Given the description of an element on the screen output the (x, y) to click on. 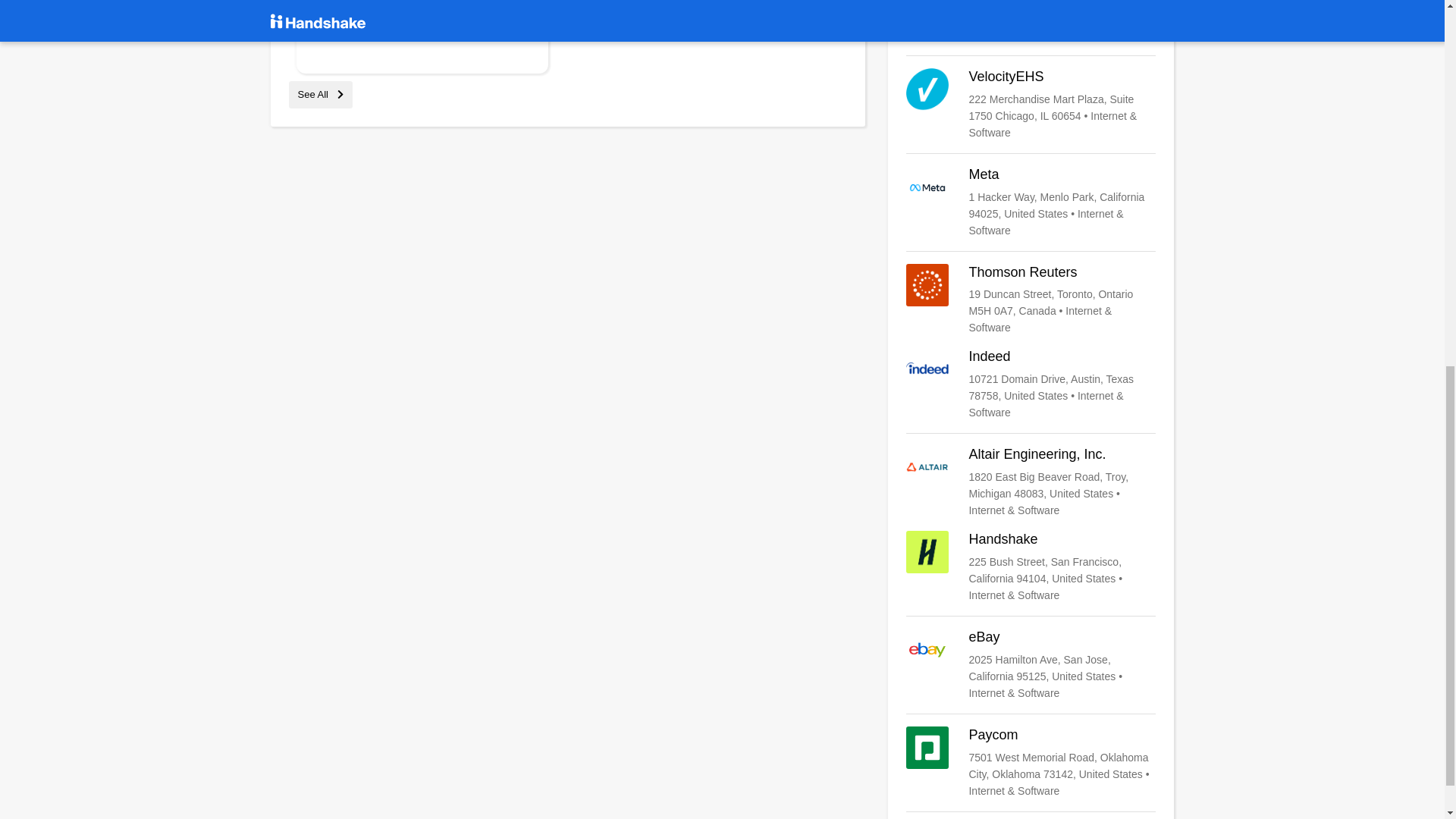
Altair Engineering, Inc. (1030, 481)
VelocityEHS (1030, 103)
Meta (1030, 202)
Thomson Reuters (1030, 299)
Indeed (1030, 384)
eBay (1030, 664)
Microsoft (1030, 21)
Handshake (1030, 566)
See All (320, 93)
Paycom (1030, 762)
